Given the description of an element on the screen output the (x, y) to click on. 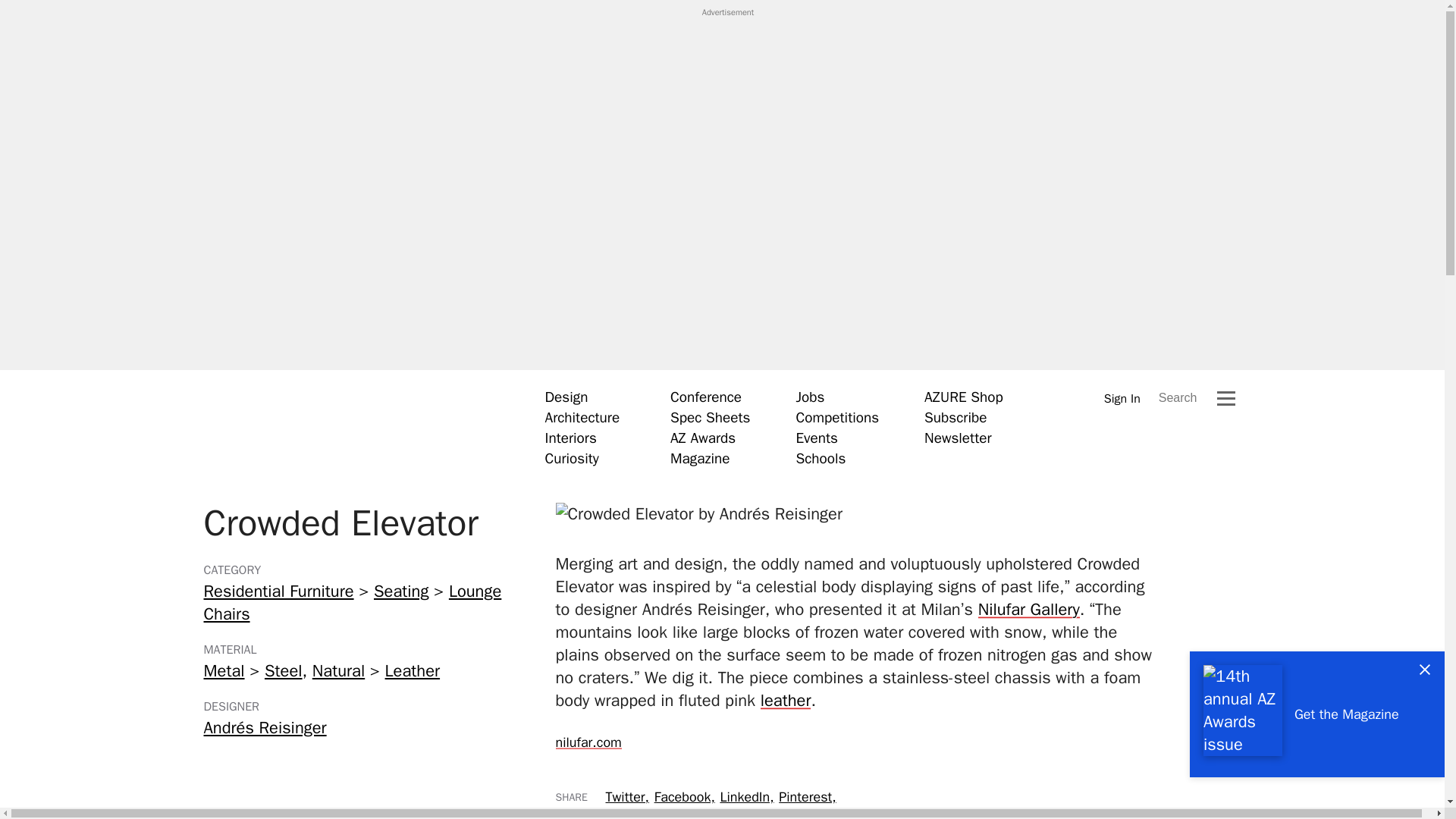
Spec Sheets (709, 417)
Design (566, 397)
Conference (705, 397)
Magazine (699, 458)
AZ Awards (702, 438)
Newsletter (957, 438)
Schools (819, 458)
Curiosity (571, 458)
Events (815, 438)
Architecture (582, 417)
Competitions (836, 417)
Subscribe (955, 417)
AZURE Shop (963, 397)
Jobs (809, 397)
Sign In (1122, 398)
